Given the description of an element on the screen output the (x, y) to click on. 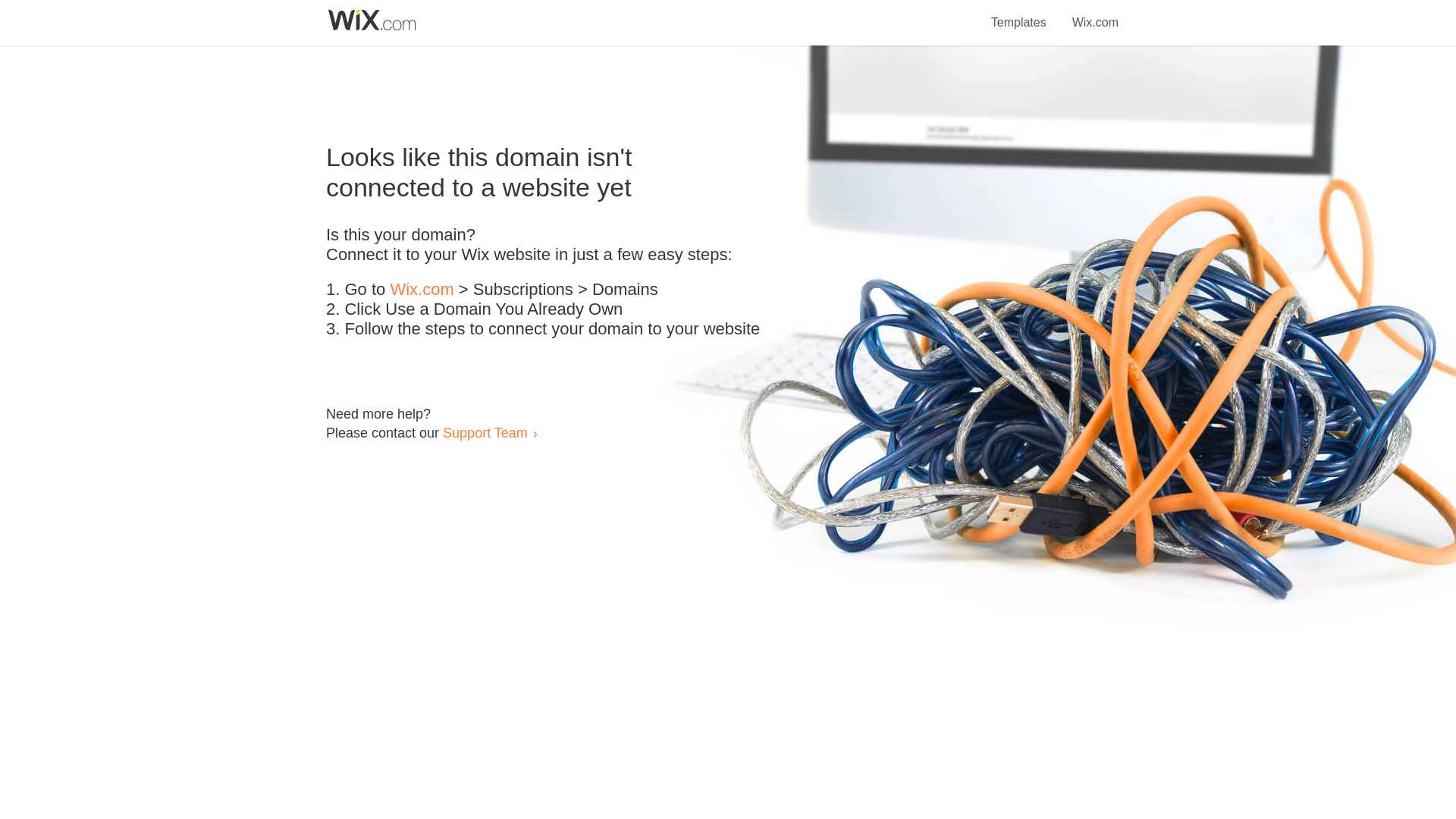
Templates (1018, 14)
Support Team (484, 432)
Wix.com (1095, 14)
Wix.com (421, 289)
